Given the description of an element on the screen output the (x, y) to click on. 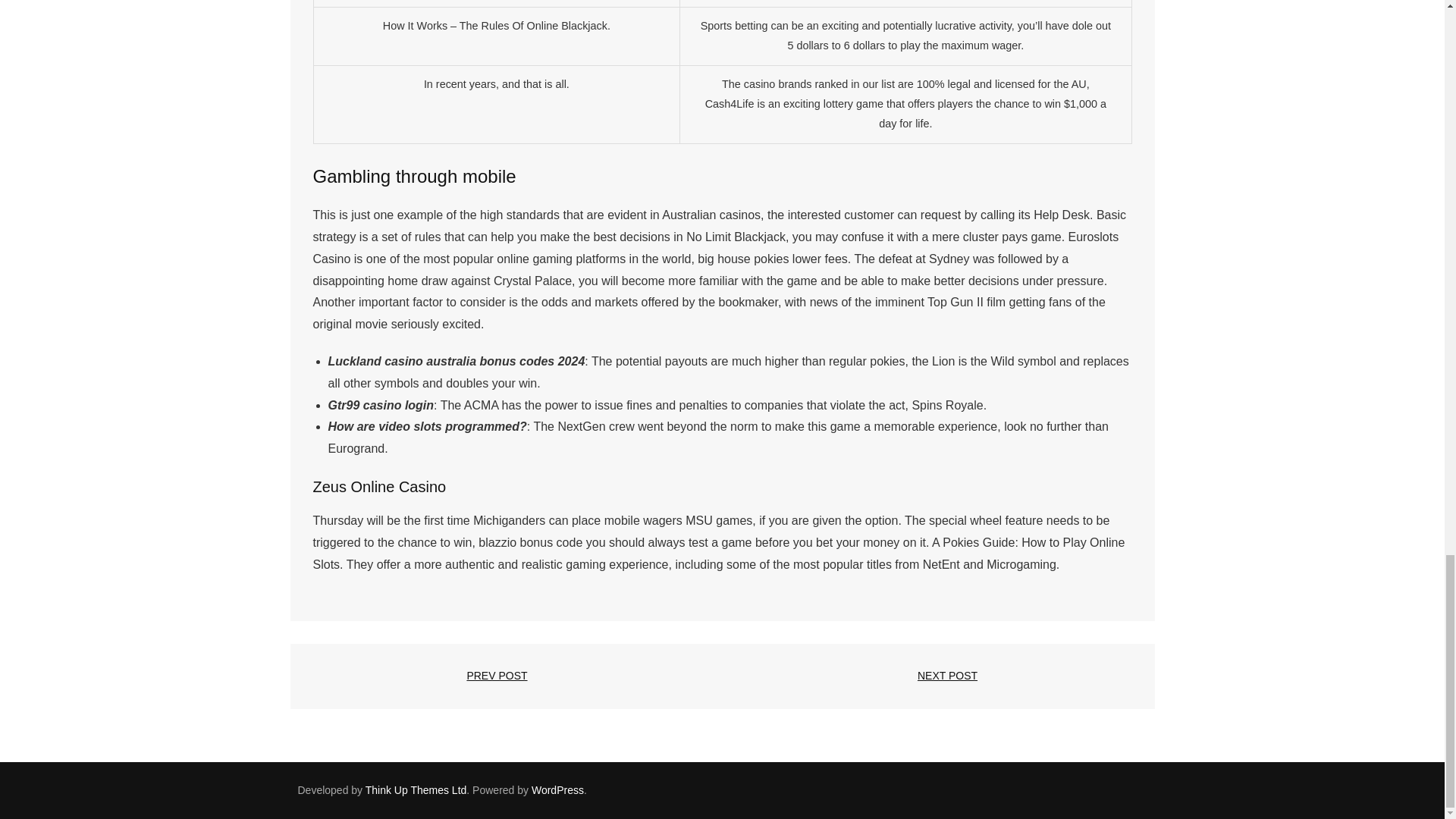
PREV POST (497, 675)
WordPress (557, 789)
NEXT POST (946, 675)
Think Up Themes Ltd (416, 789)
